Given the description of an element on the screen output the (x, y) to click on. 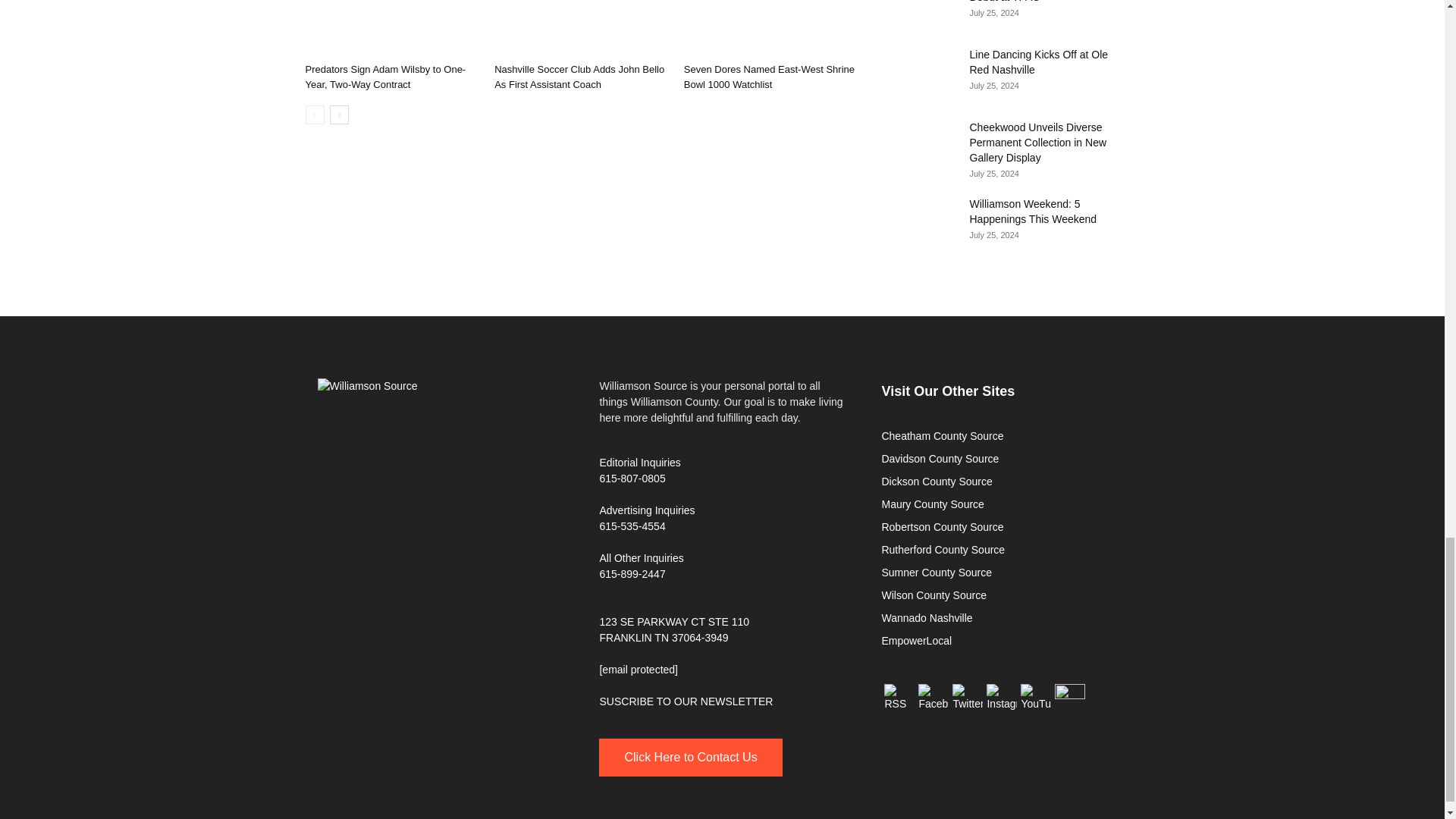
Predators Sign Adam Wilsby to One-Year, Two-Way Contract (384, 76)
Predators Sign Adam Wilsby to One-Year, Two-Way Contract (391, 28)
